Given the description of an element on the screen output the (x, y) to click on. 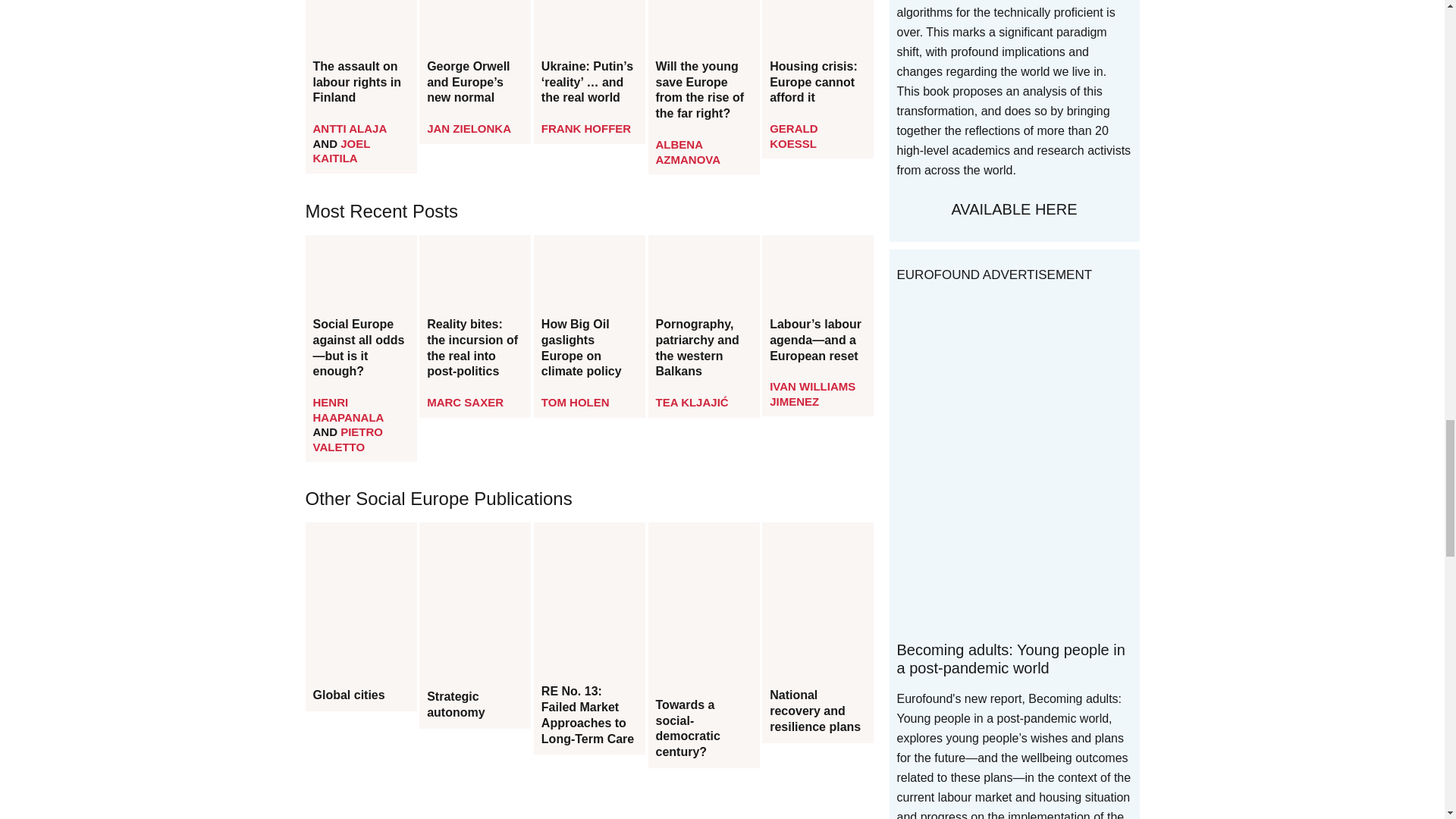
Marc Saxer (464, 401)
View all posts by Henri Haapanala (347, 409)
JOEL KAITILA (341, 151)
View all posts by Antti Alaja (349, 128)
Housing crisis: Europe cannot afford it (817, 82)
ANTTI ALAJA (349, 128)
JAN ZIELONKA (468, 128)
View all posts by Pietro Valetto (347, 439)
GERALD KOESSL (793, 135)
Jan Zielonka (468, 128)
The assault on labour rights in Finland (360, 82)
Ivan Williams Jimenez (813, 393)
ALBENA AZMANOVA (688, 152)
Albena Azmanova (688, 152)
Tom Holen (575, 401)
